Given the description of an element on the screen output the (x, y) to click on. 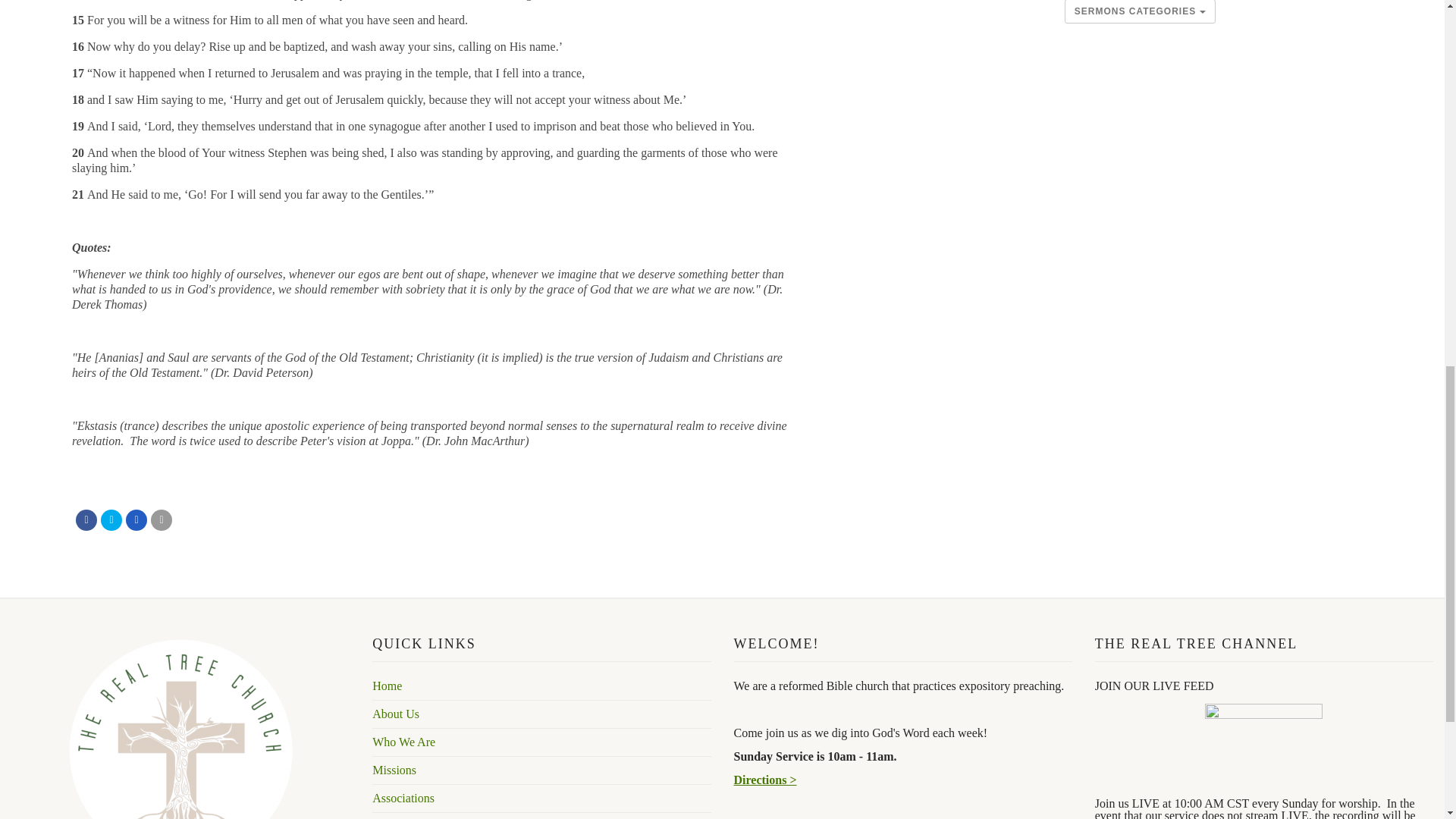
Email (161, 519)
SERMONS CATEGORIES (1139, 11)
Tweet (111, 519)
Share on Facebook (86, 519)
2:7:21 Footer Logo (180, 728)
